Given the description of an element on the screen output the (x, y) to click on. 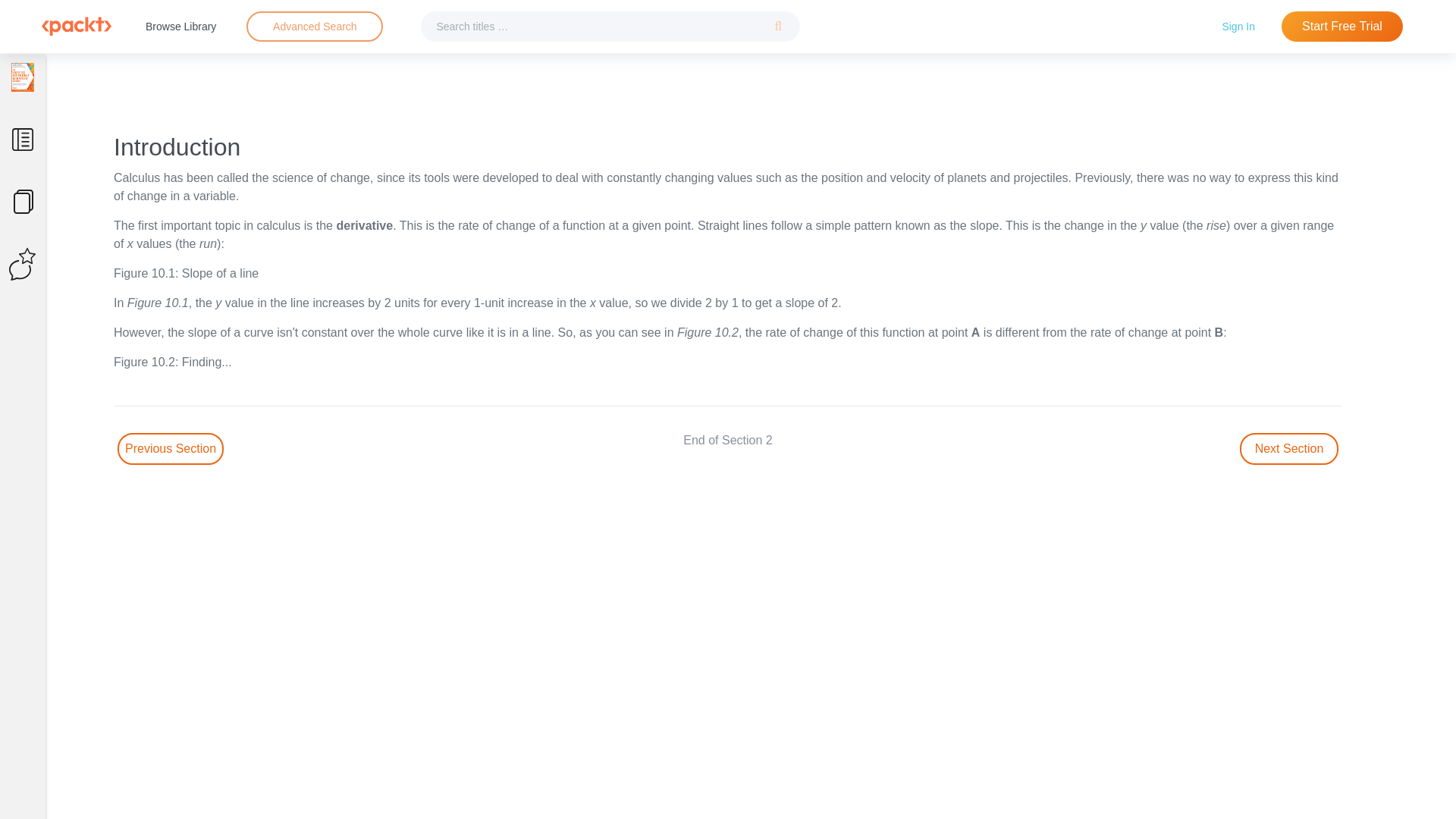
Go to Previous section (170, 449)
Start Free Trial (1342, 26)
Advanced Search (315, 26)
Browse Library (180, 26)
Advanced Search (314, 26)
Advanced search (314, 26)
Go to next section (1289, 449)
Sign In (1238, 26)
